Given the description of an element on the screen output the (x, y) to click on. 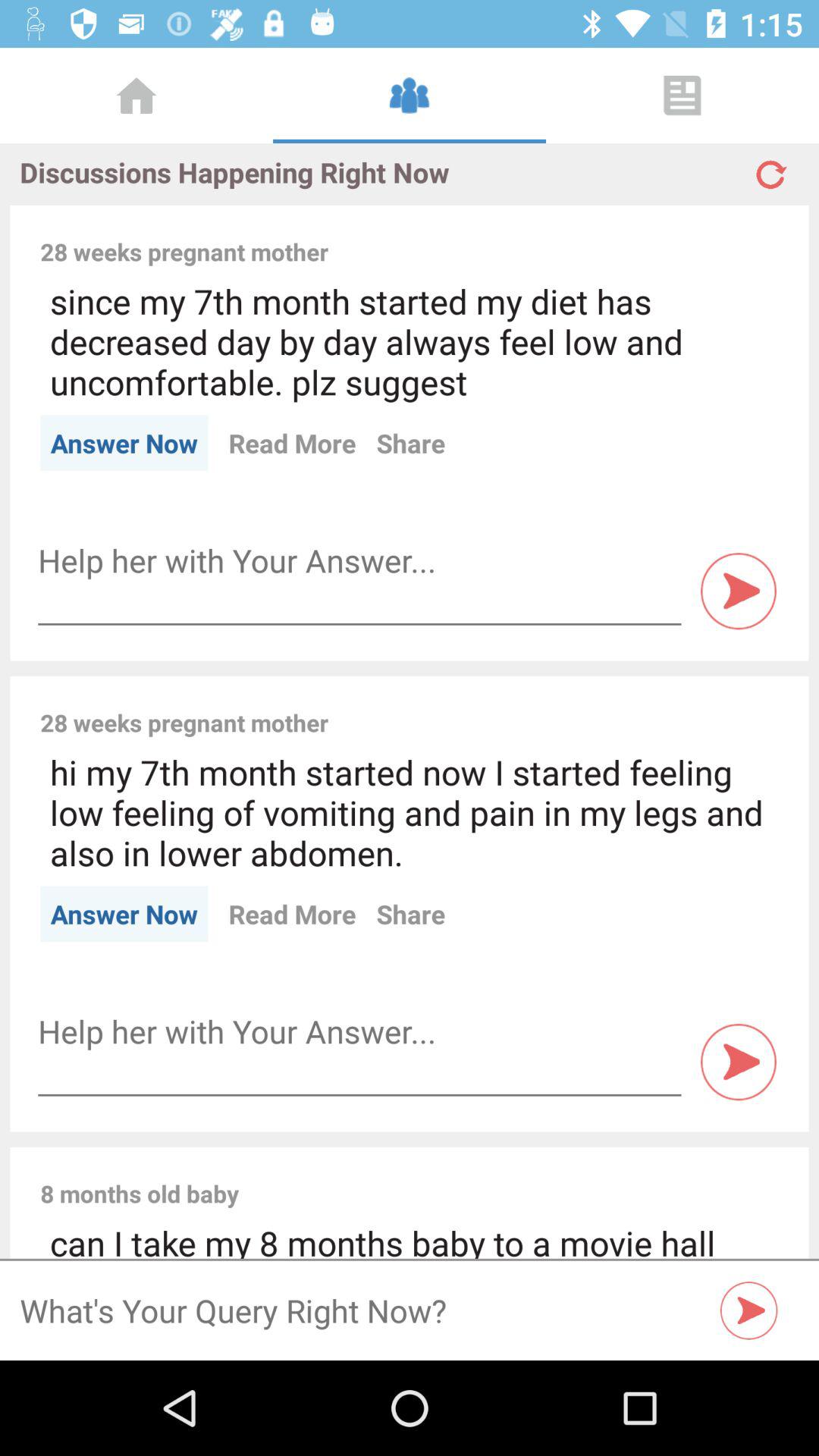
enter answer (359, 1031)
